Given the description of an element on the screen output the (x, y) to click on. 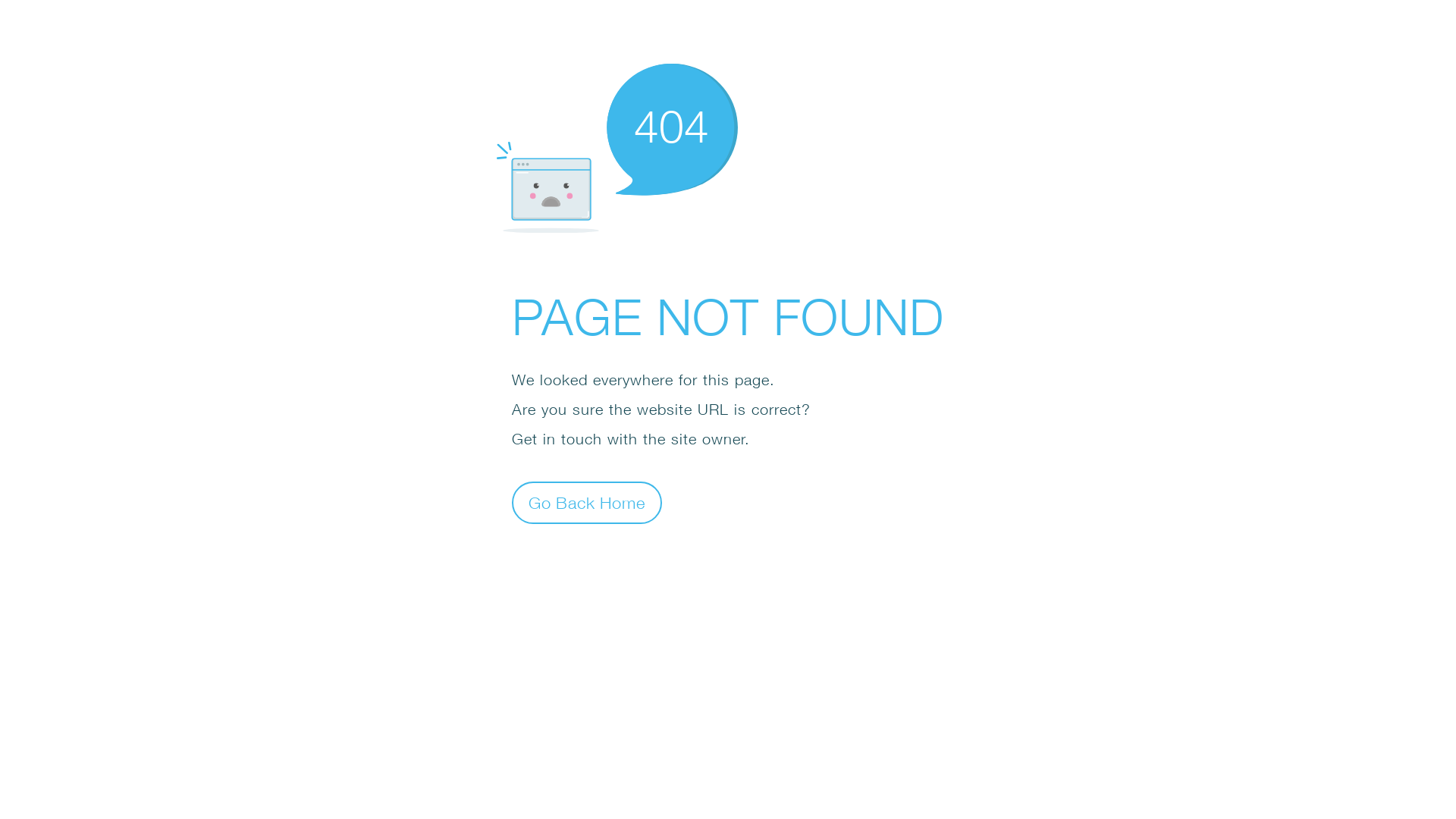
Go Back Home Element type: text (586, 502)
